Given the description of an element on the screen output the (x, y) to click on. 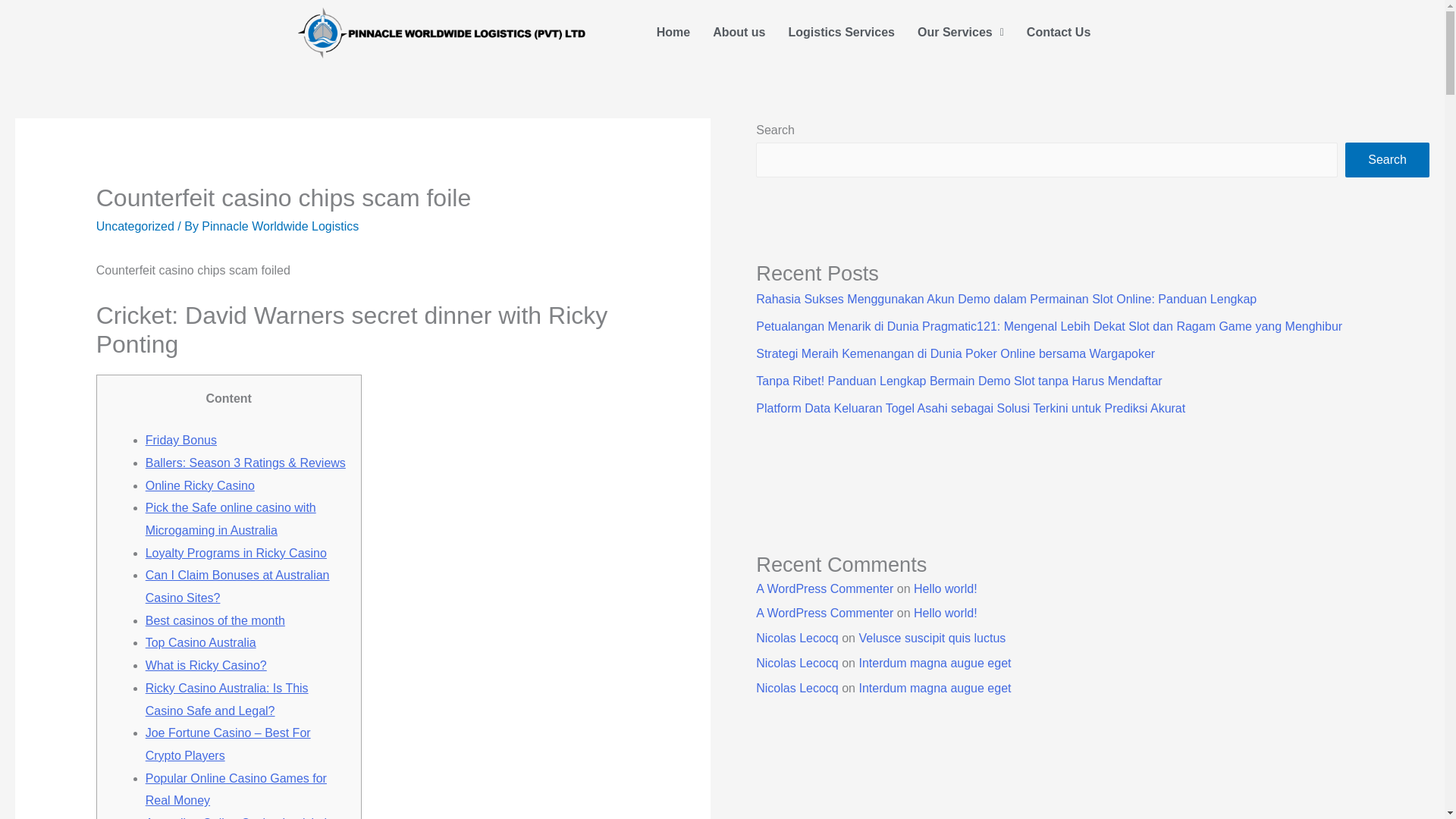
Ricky Casino Australia: Is This Casino Safe and Legal? (226, 699)
Pick the Safe online casino with Microgaming in Australia (230, 519)
Friday Bonus (180, 440)
Online Ricky Casino (199, 485)
View all posts by Pinnacle Worldwide Logistics (280, 226)
Loyalty Programs in Ricky Casino (235, 553)
Popular Online Casino Games for Real Money (235, 789)
Australian Online Casino Legislation (242, 817)
Top Casino Australia (200, 642)
Logistics Services (840, 32)
About us (738, 32)
Pinnacle Worldwide Logistics (280, 226)
Uncategorized (135, 226)
Our Services (959, 32)
Home (673, 32)
